Given the description of an element on the screen output the (x, y) to click on. 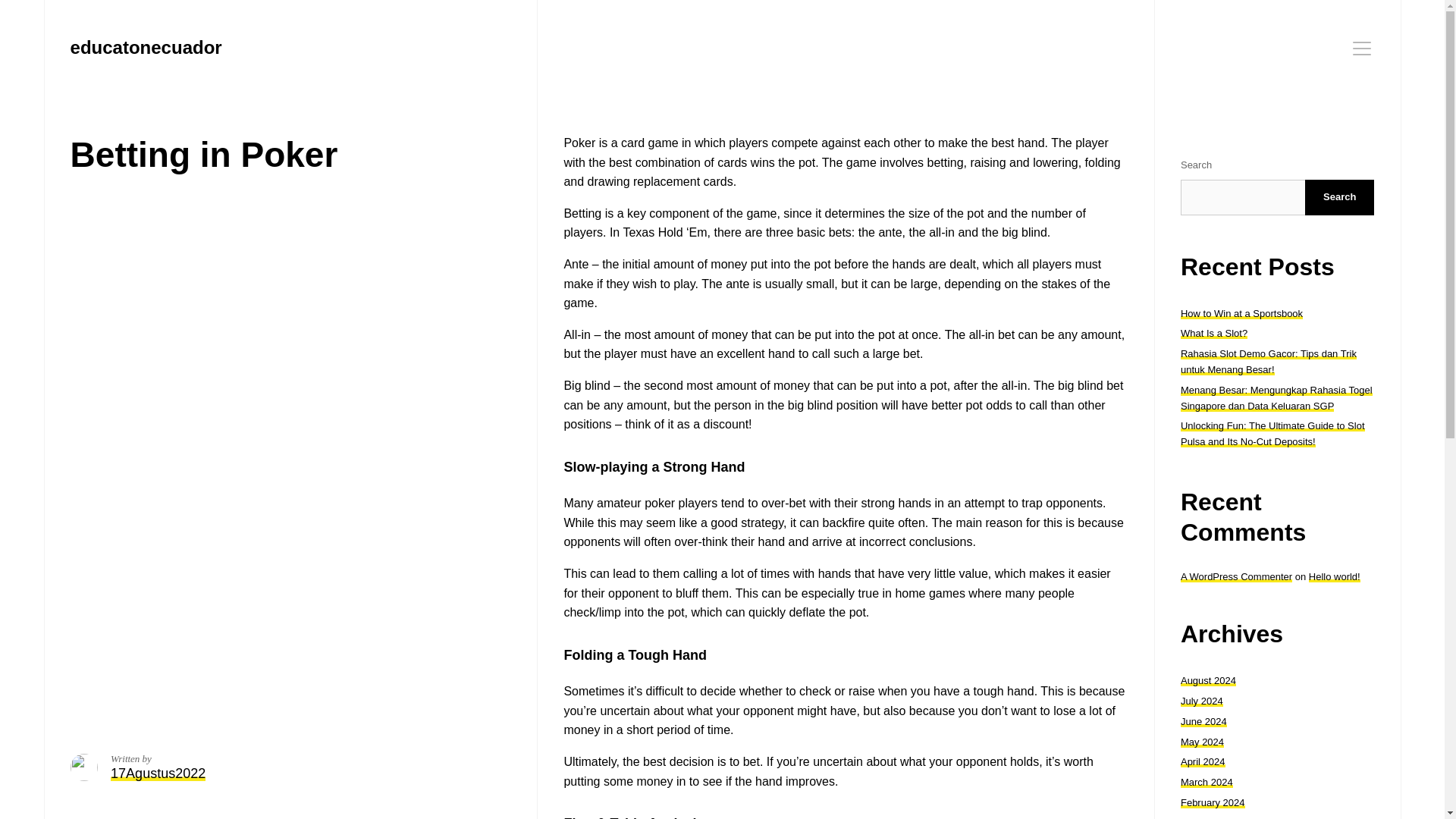
Menu (1361, 48)
A WordPress Commenter (1236, 576)
What Is a Slot? (1213, 333)
17Agustus2022 (157, 773)
April 2024 (1202, 761)
Search (1339, 197)
June 2024 (1203, 721)
Rahasia Slot Demo Gacor: Tips dan Trik untuk Menang Besar! (1268, 361)
educatonecuador (145, 47)
